Given the description of an element on the screen output the (x, y) to click on. 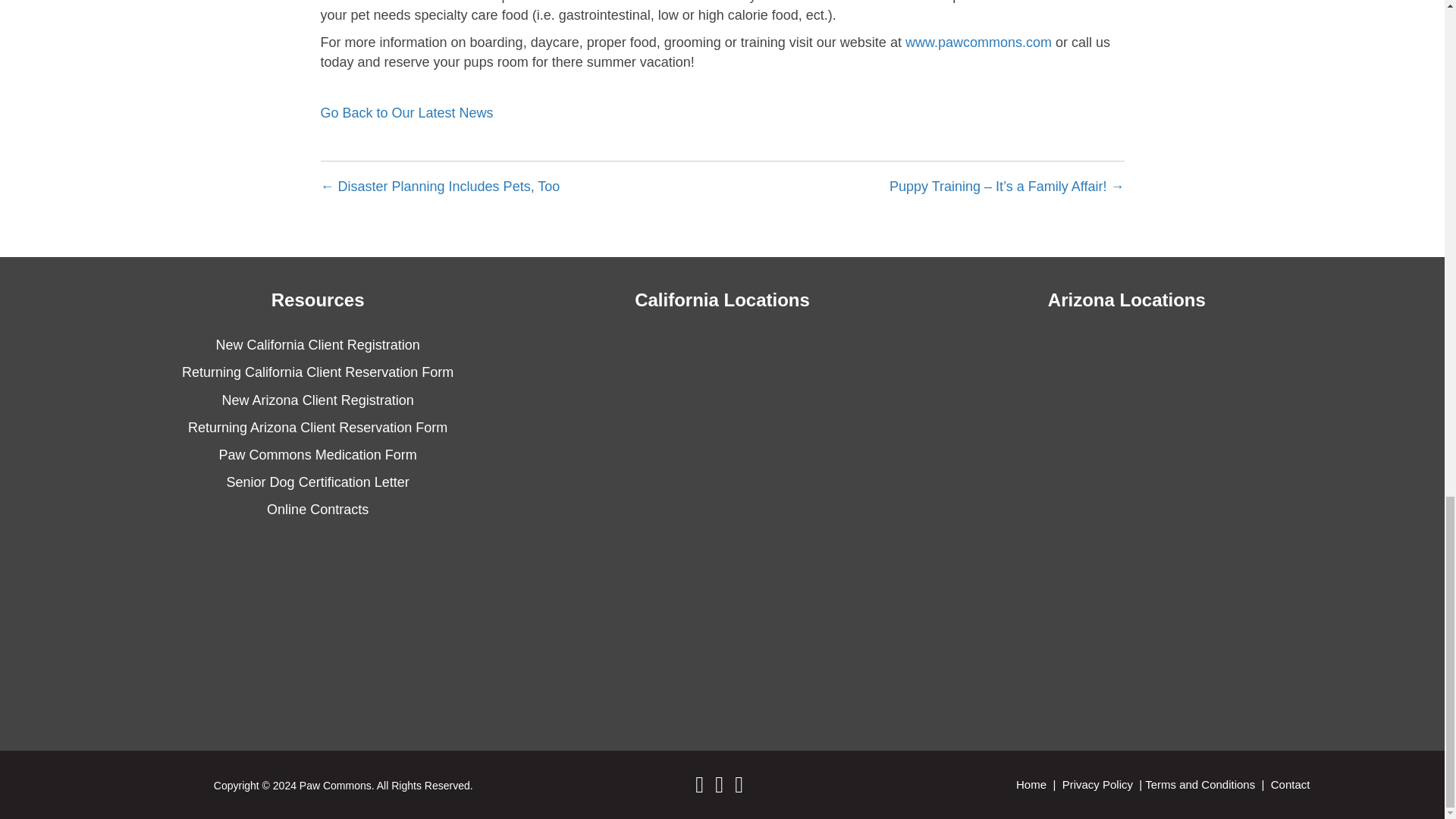
arizona-map (1126, 486)
California Locations (721, 299)
Arizona Locations (1126, 299)
best of san diego and the desert 2022 (316, 630)
footer-california-map (721, 486)
